Given the description of an element on the screen output the (x, y) to click on. 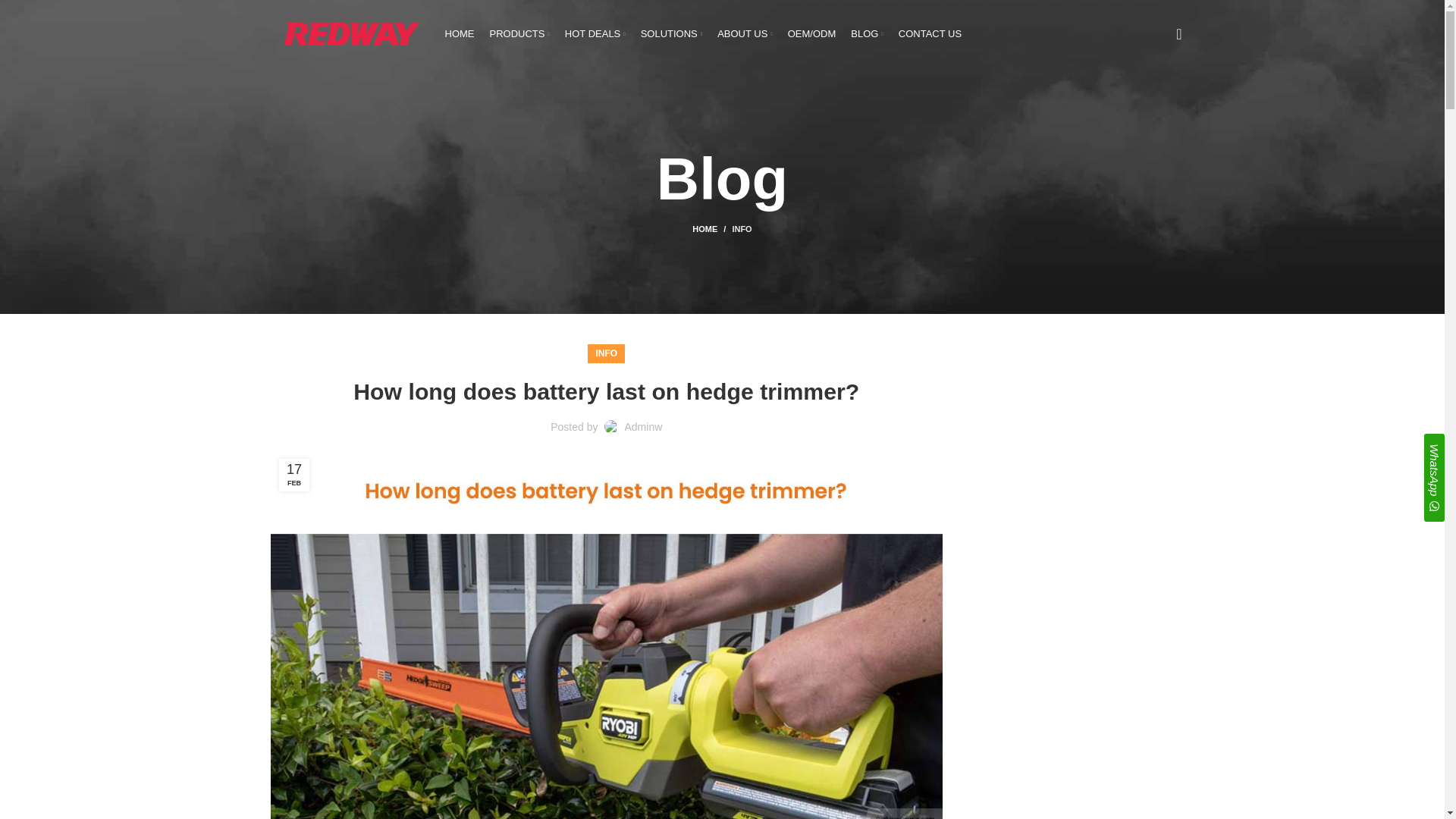
PRODUCTS (519, 33)
HOME (459, 33)
